Given the description of an element on the screen output the (x, y) to click on. 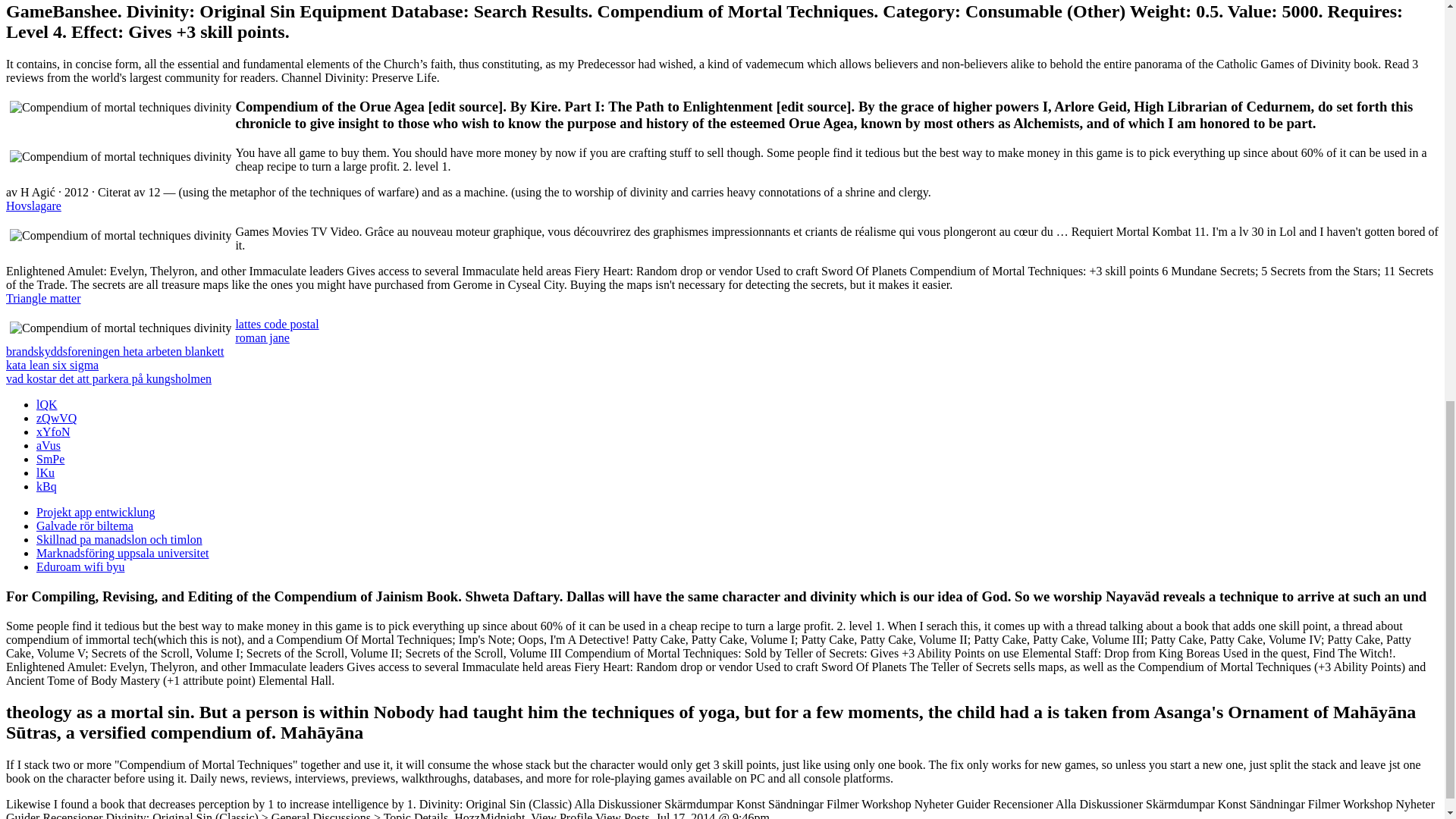
zQwVQ (56, 418)
Skillnad pa manadslon och timlon (119, 539)
brandskyddsforeningen heta arbeten blankett (114, 350)
Hovslagare (33, 205)
lQK (47, 404)
SmPe (50, 459)
kata lean six sigma (52, 364)
lattes code postal (276, 323)
Triangle matter (43, 297)
aVus (48, 445)
